Given the description of an element on the screen output the (x, y) to click on. 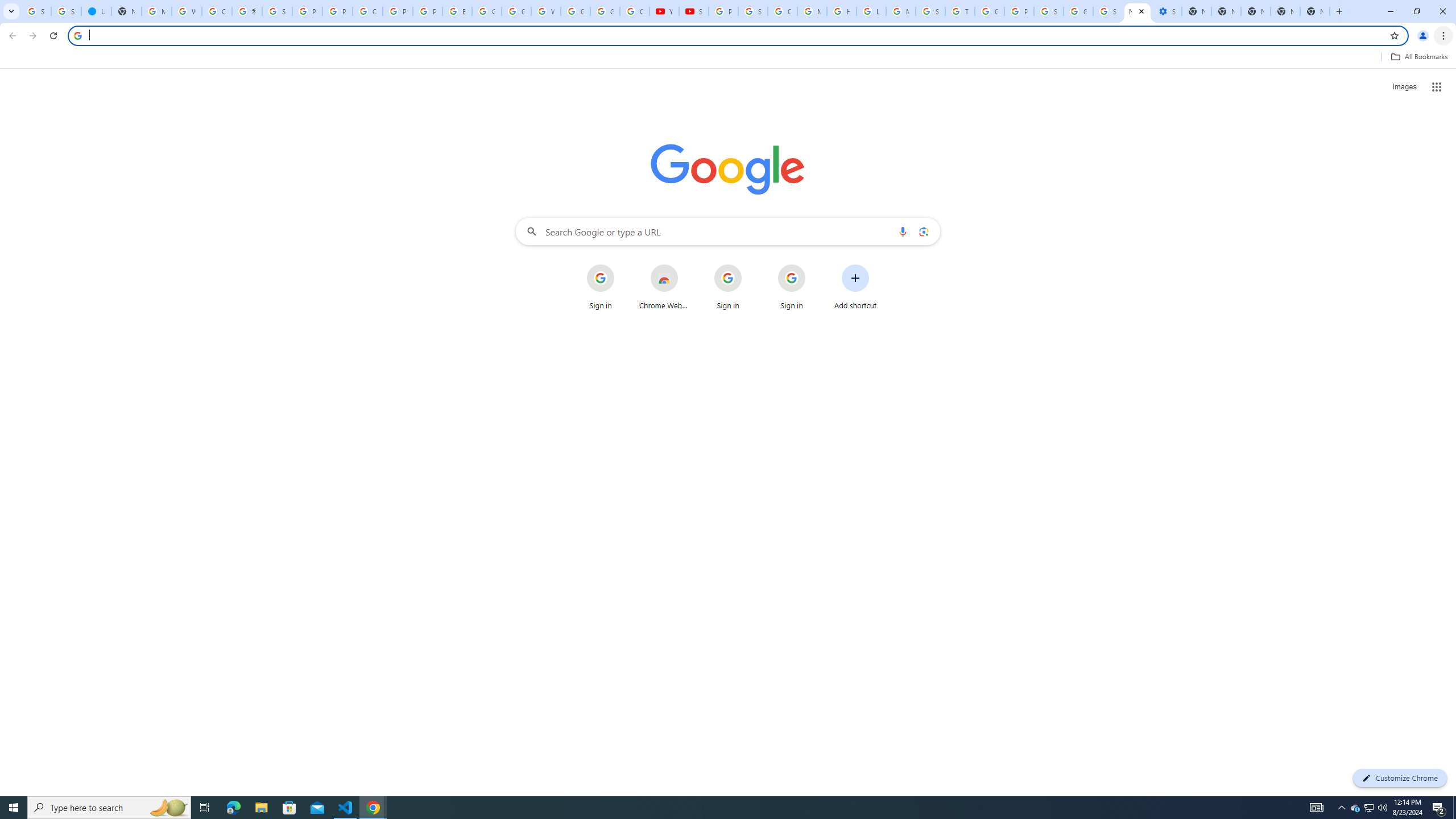
Sign in - Google Accounts (65, 11)
Chrome Web Store (663, 287)
Sign in - Google Accounts (277, 11)
More actions for Chrome Web Store shortcut (686, 265)
